Given the description of an element on the screen output the (x, y) to click on. 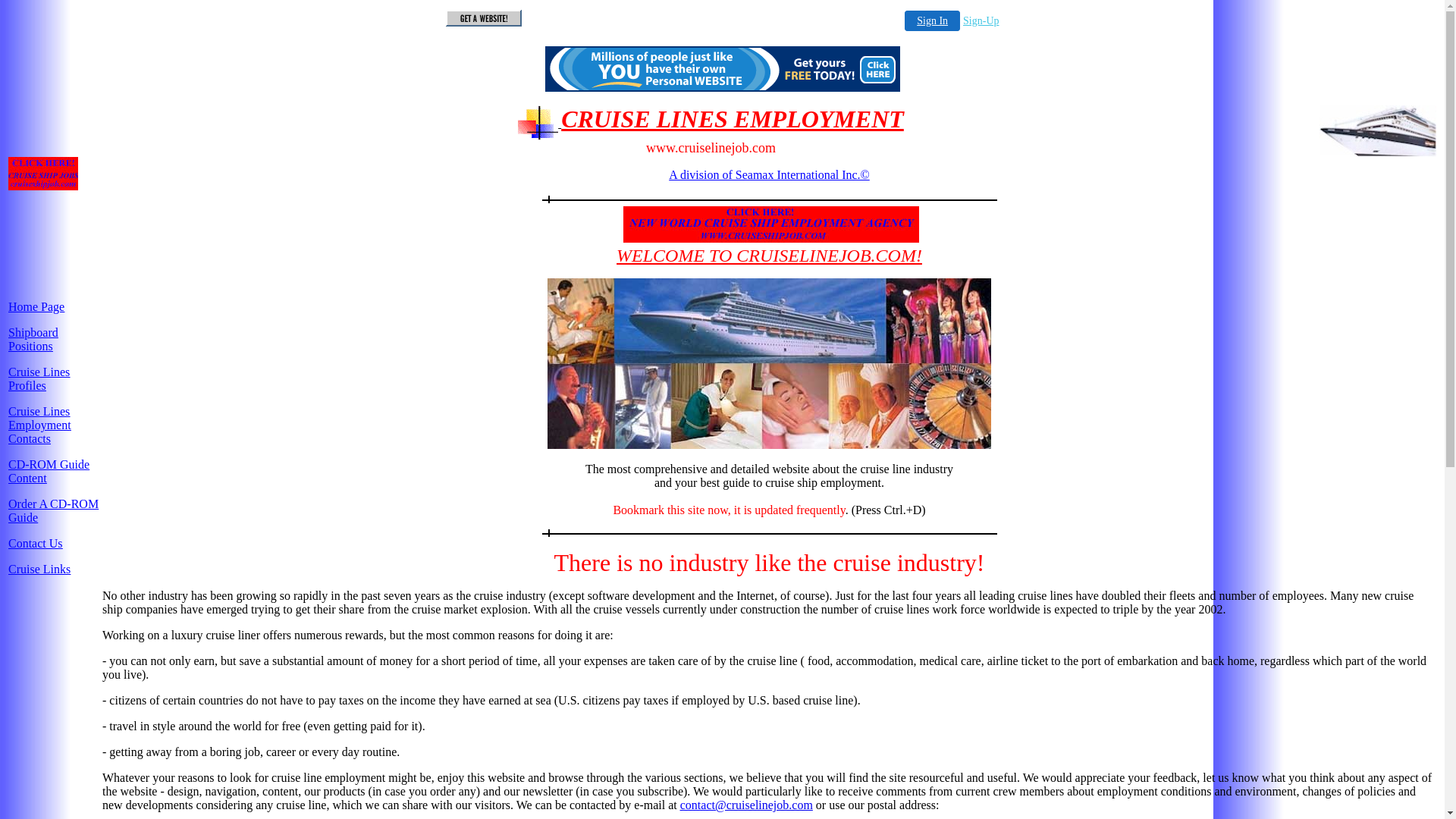
Sign In Element type: text (932, 20)
CD-ROM Guide Content Element type: text (48, 471)
Sign-Up Element type: text (980, 20)
Shipboard Positions Element type: text (33, 339)
Cruise Lines Profiles Element type: text (38, 378)
contact@cruiselinejob.com Element type: text (746, 804)
Cruise Links Element type: text (39, 568)
Order A CD-ROM Guide Element type: text (53, 510)
Contact Us Element type: text (35, 542)
Cruise Lines Employment Contacts Element type: text (39, 424)
Home Page Element type: text (36, 306)
